Given the description of an element on the screen output the (x, y) to click on. 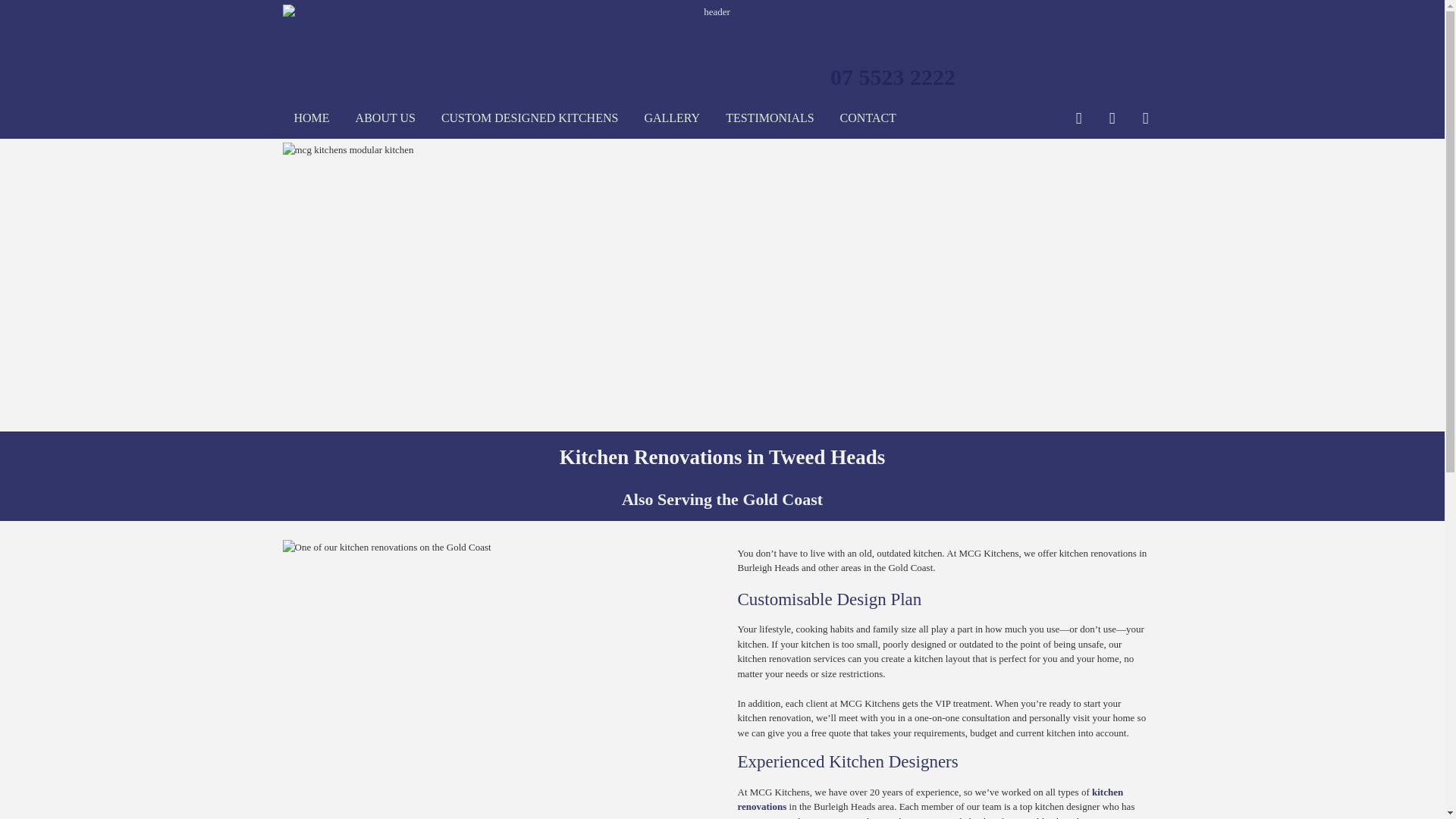
header Element type: hover (710, 11)
kitchen renovations Element type: text (930, 799)
mcg kitchens modular kitchen Element type: hover (721, 284)
CUSTOM DESIGNED KITCHENS Element type: text (529, 118)
07 5523 2222 Element type: text (892, 76)
ABOUT US Element type: text (385, 118)
GALLERY Element type: text (671, 118)
TESTIMONIALS Element type: text (769, 118)
HOME Element type: text (311, 118)
CONTACT Element type: text (868, 118)
